Given the description of an element on the screen output the (x, y) to click on. 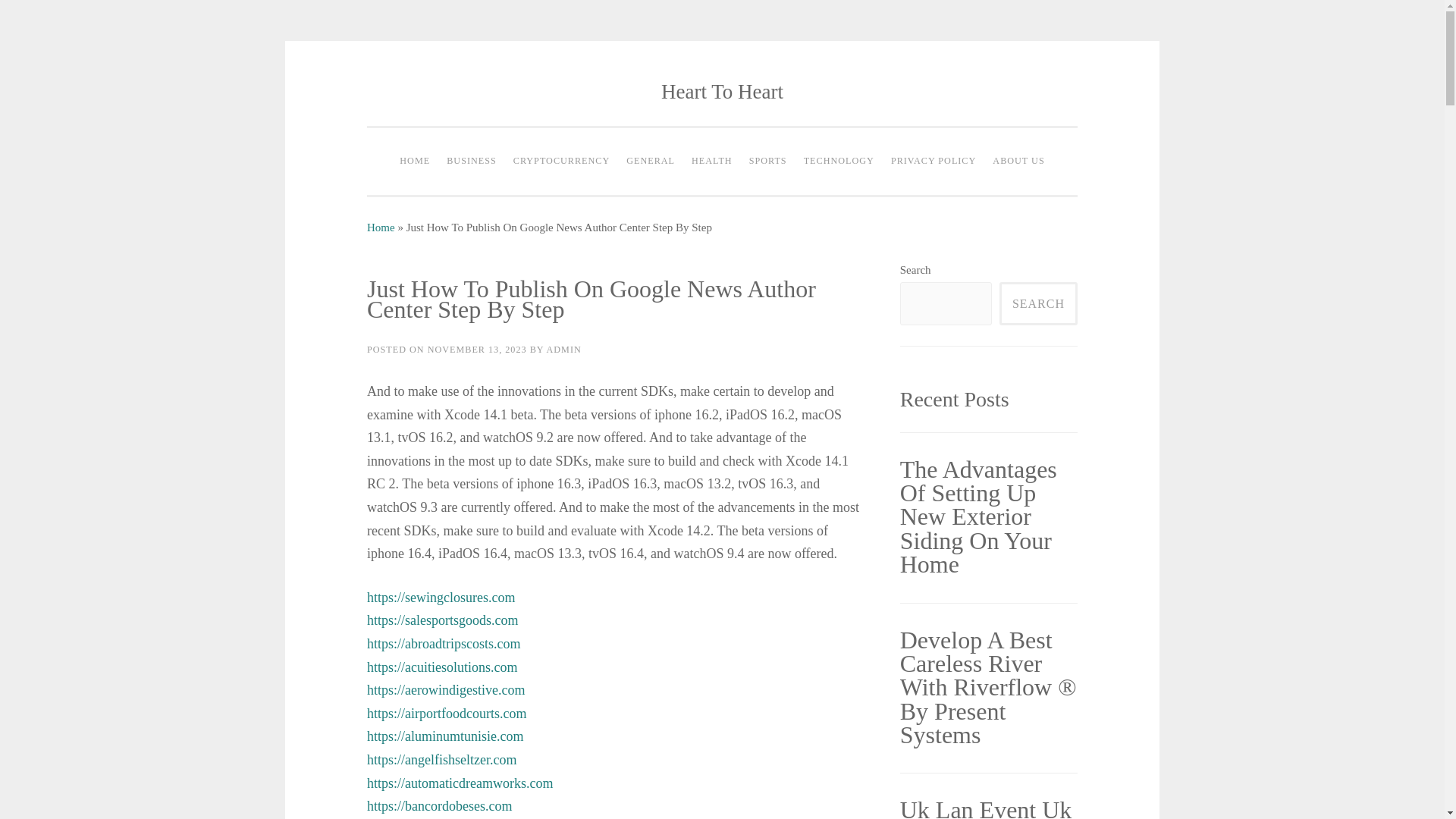
BUSINESS (471, 161)
Heart To Heart (722, 91)
Home (380, 227)
HEALTH (711, 161)
NOVEMBER 13, 2023 (477, 348)
CRYPTOCURRENCY (560, 161)
GENERAL (650, 161)
PRIVACY POLICY (932, 161)
ADMIN (563, 348)
TECHNOLOGY (838, 161)
